Given the description of an element on the screen output the (x, y) to click on. 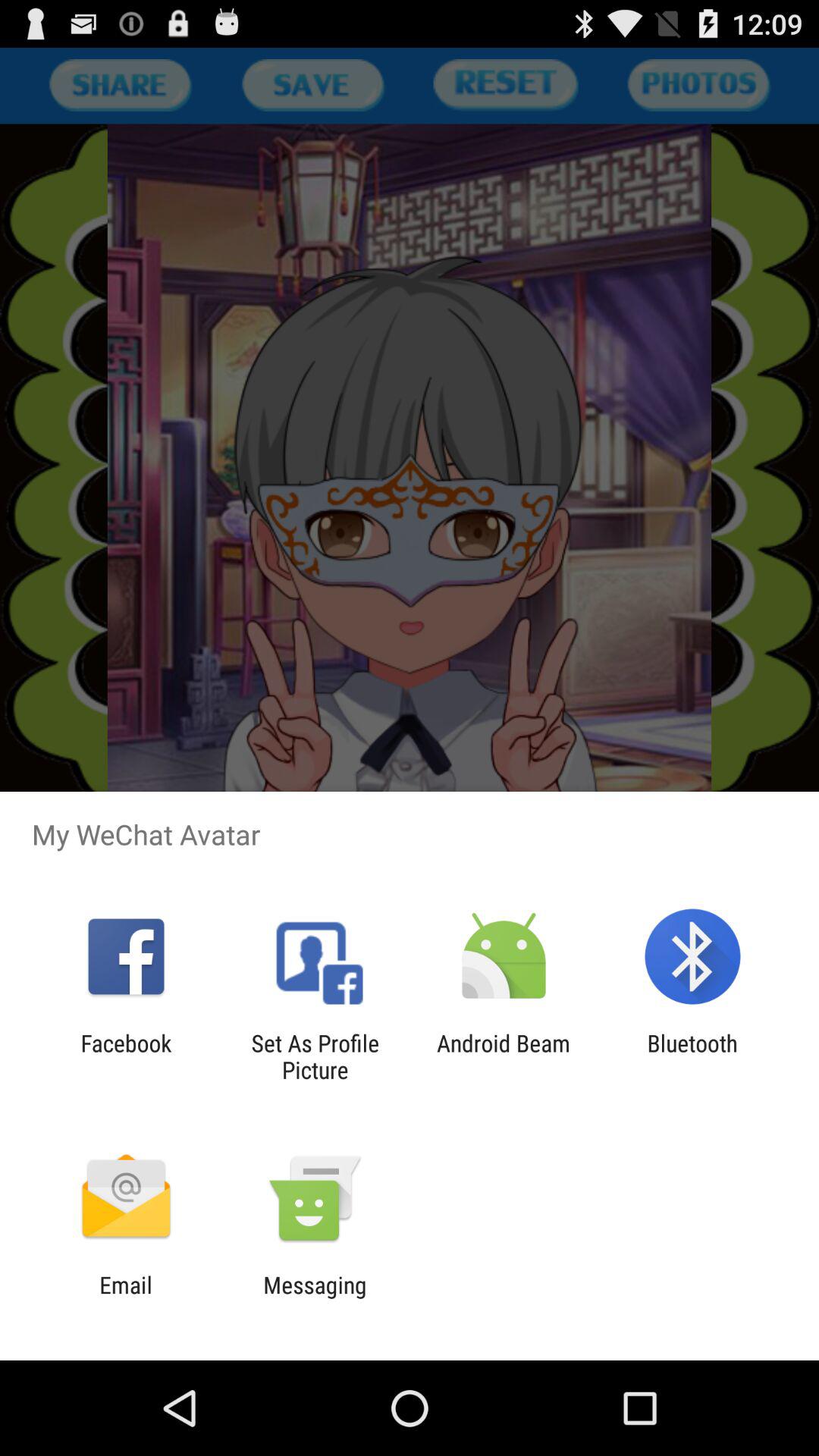
choose the facebook (125, 1056)
